Given the description of an element on the screen output the (x, y) to click on. 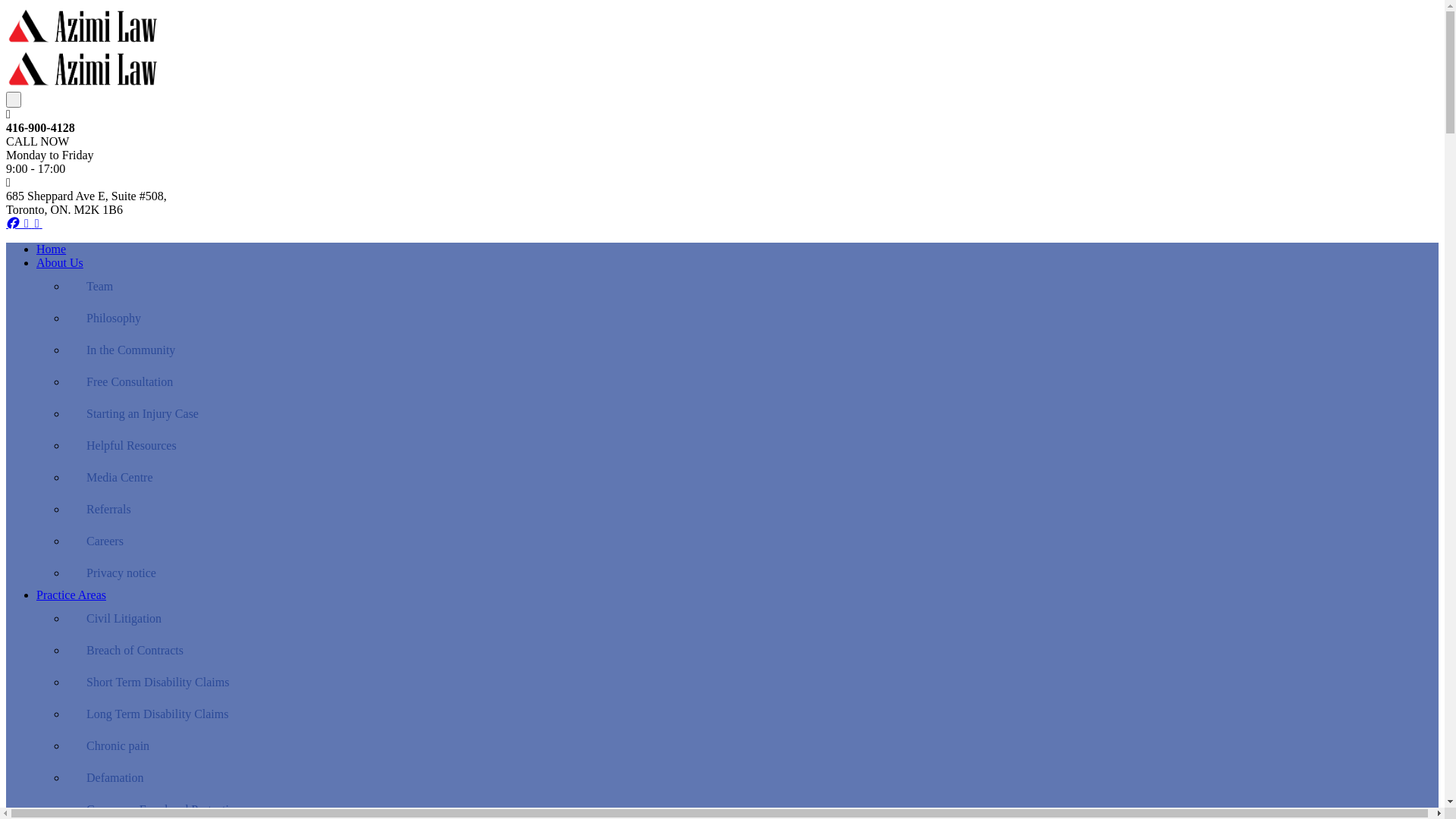
Helpful Resources Element type: text (752, 445)
Practice Areas Element type: text (71, 594)
In the Community Element type: text (752, 349)
Civil Litigation Element type: text (752, 617)
Privacy notice Element type: text (752, 572)
Breach of Contracts Element type: text (752, 649)
Chronic pain Element type: text (752, 745)
  Element type: text (13, 99)
  Element type: text (15, 222)
Careers Element type: text (752, 540)
Defamation Element type: text (752, 777)
Team Element type: text (752, 285)
Media Centre Element type: text (752, 476)
Philosophy Element type: text (752, 317)
Short Term Disability Claims Element type: text (752, 681)
Starting an Injury Case Element type: text (752, 413)
About Us Element type: text (59, 262)
Long Term Disability Claims Element type: text (752, 713)
  Element type: text (38, 222)
Free Consultation Element type: text (752, 381)
Home Element type: text (50, 248)
Referrals Element type: text (752, 508)
  Element type: text (29, 222)
